Given the description of an element on the screen output the (x, y) to click on. 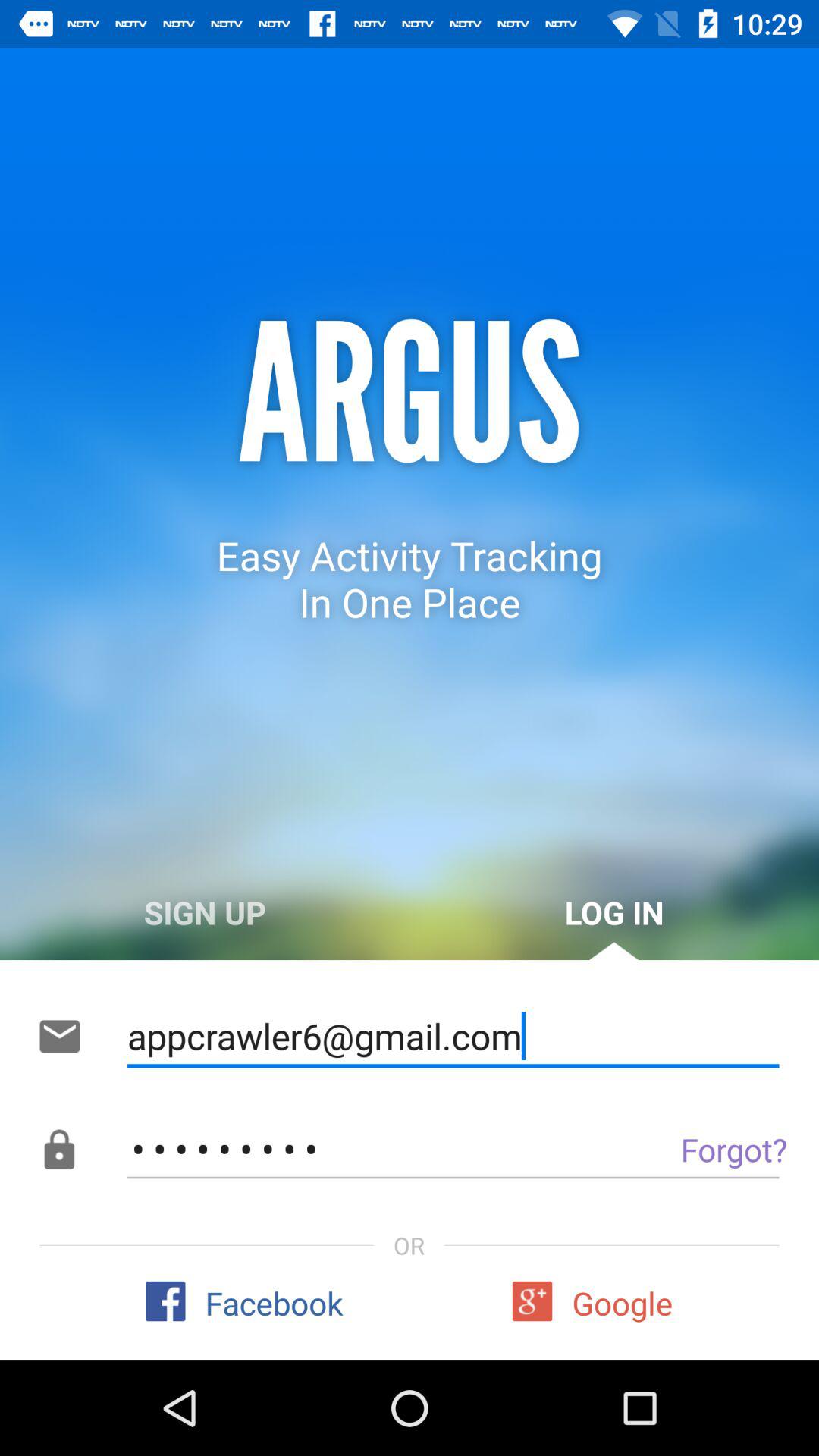
turn off the crowd3116 (453, 1149)
